Given the description of an element on the screen output the (x, y) to click on. 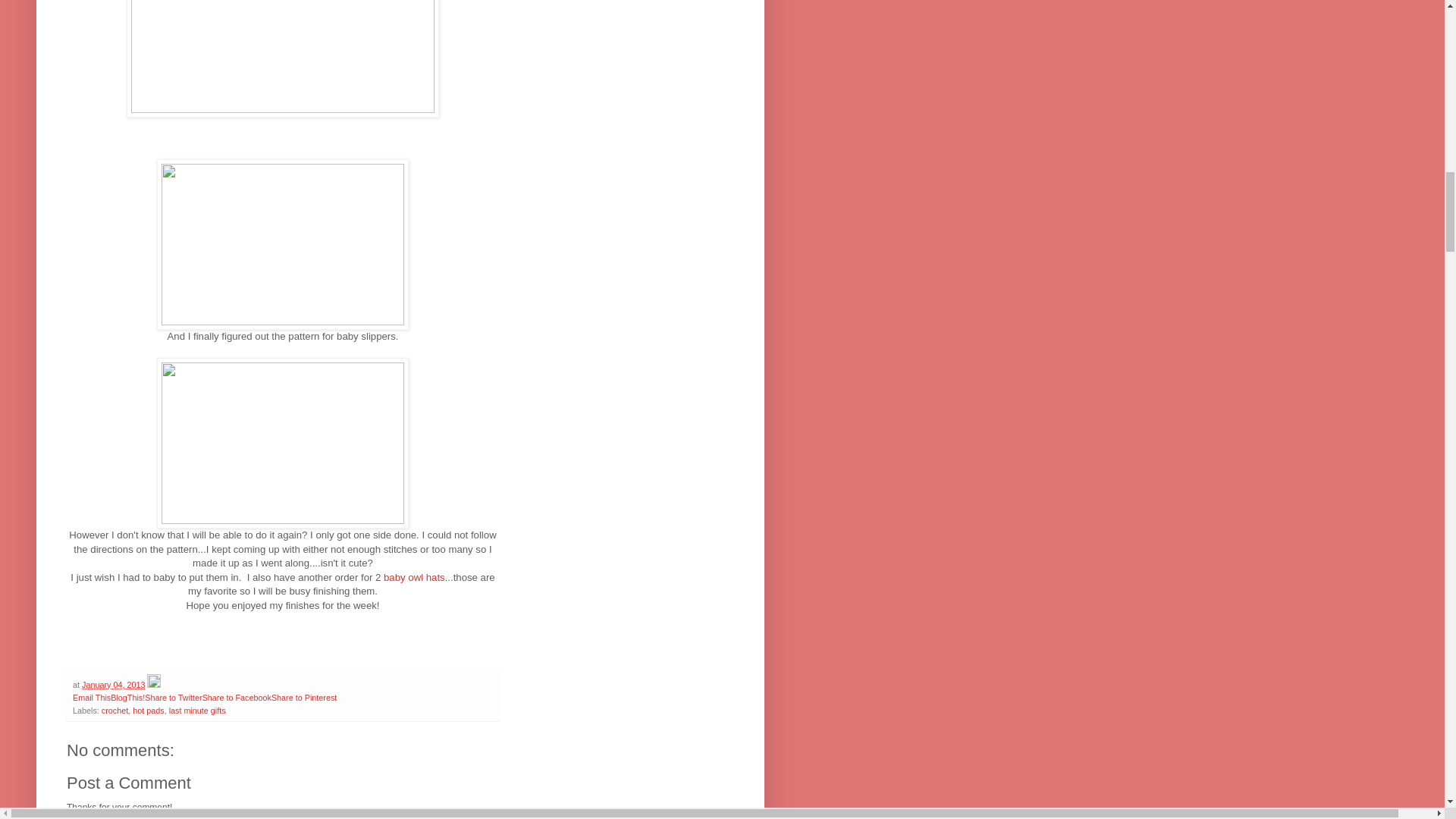
Share to Facebook (236, 696)
Email This (91, 696)
Share to Pinterest (303, 696)
Share to Twitter (173, 696)
BlogThis! (127, 696)
Email This (91, 696)
hot pads (147, 709)
last minute gifts (196, 709)
baby owl hats (412, 577)
Edit Post (153, 684)
BlogThis! (127, 696)
permanent link (112, 684)
January 04, 2013 (112, 684)
Share to Pinterest (303, 696)
crochet (114, 709)
